Given the description of an element on the screen output the (x, y) to click on. 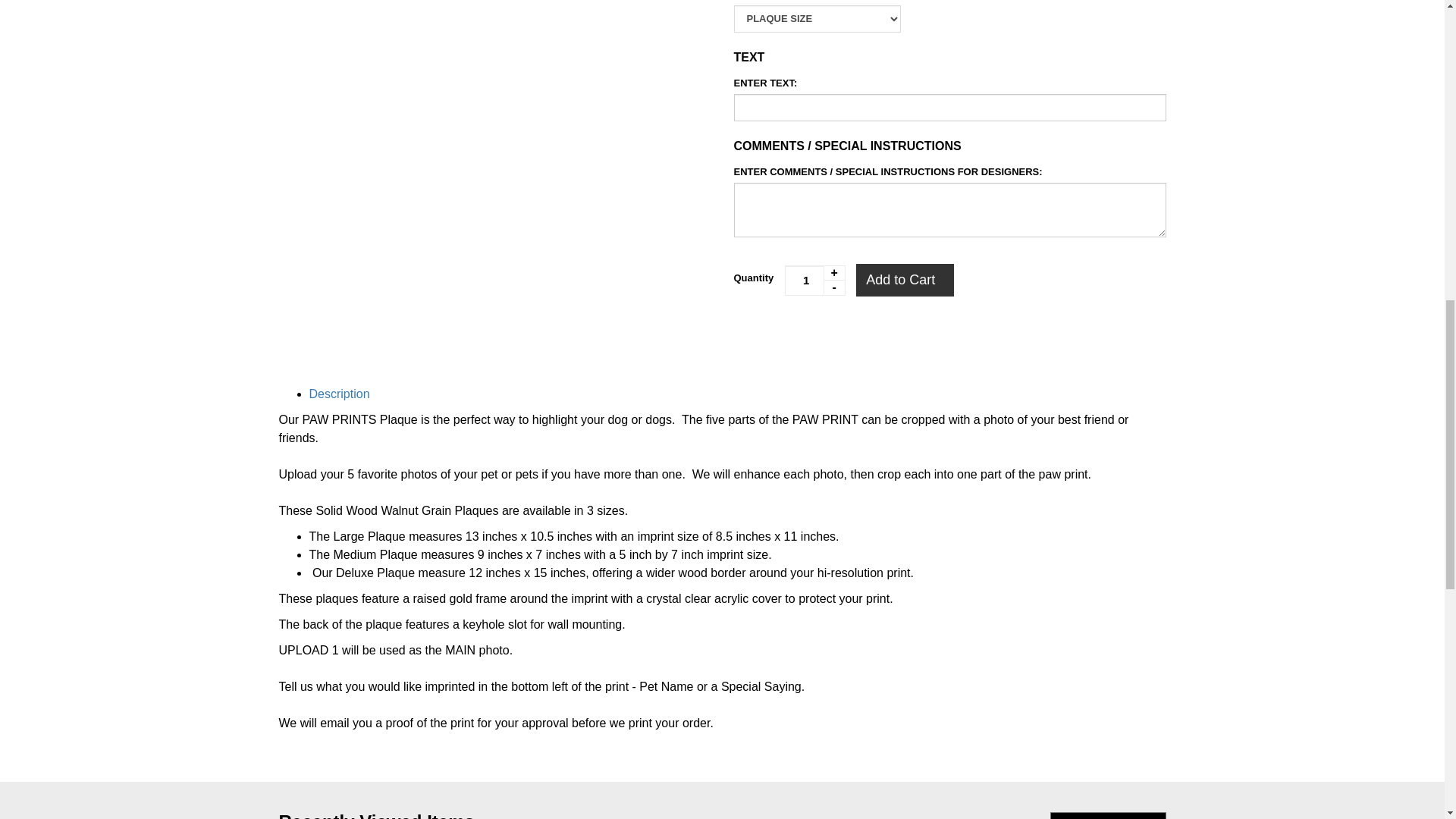
1 (814, 280)
